Given the description of an element on the screen output the (x, y) to click on. 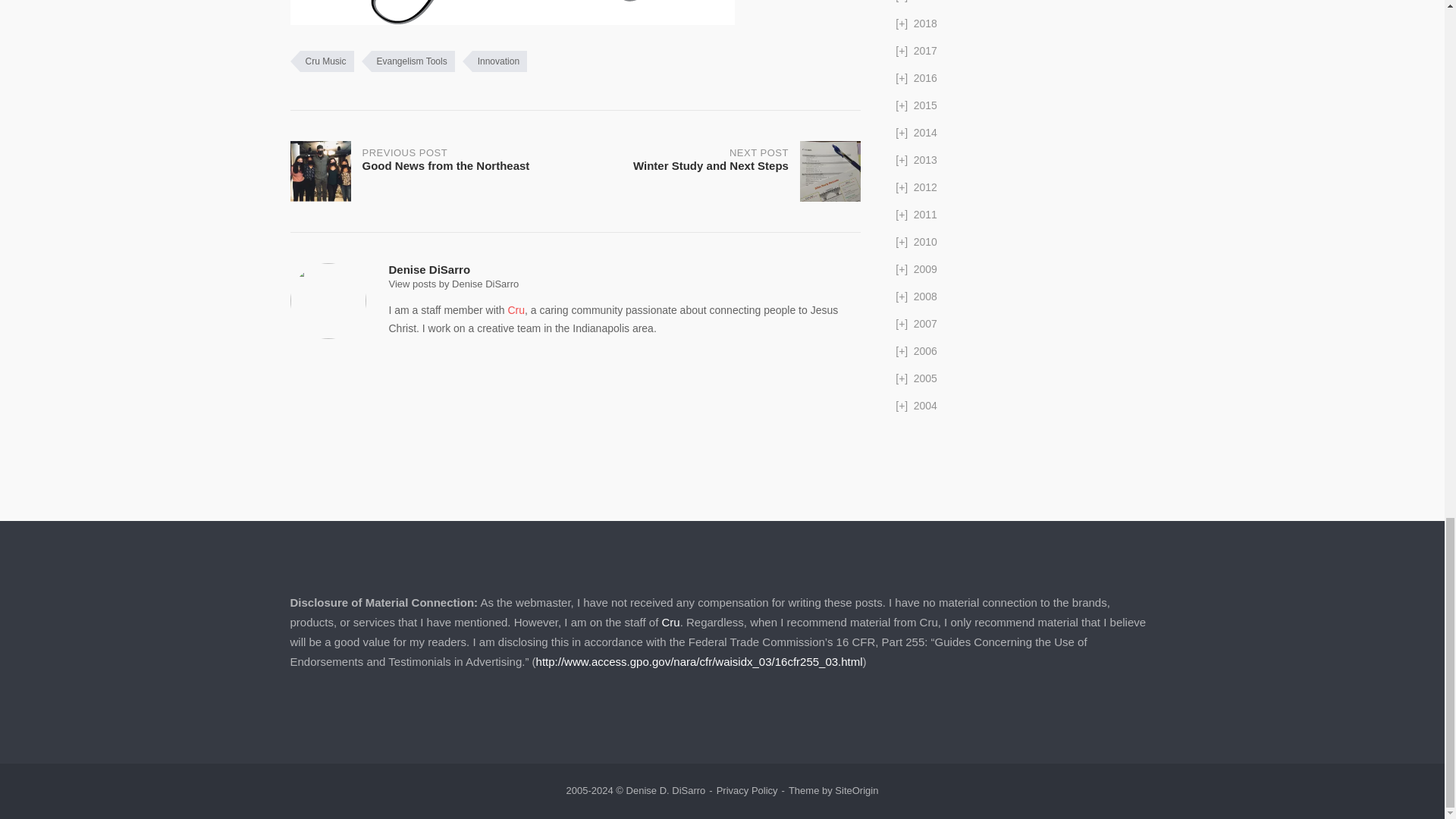
Cru Music (321, 61)
Innovation (717, 170)
View posts by Denise DiSarro (495, 61)
Evangelism Tools (453, 283)
Cru (407, 61)
